Given the description of an element on the screen output the (x, y) to click on. 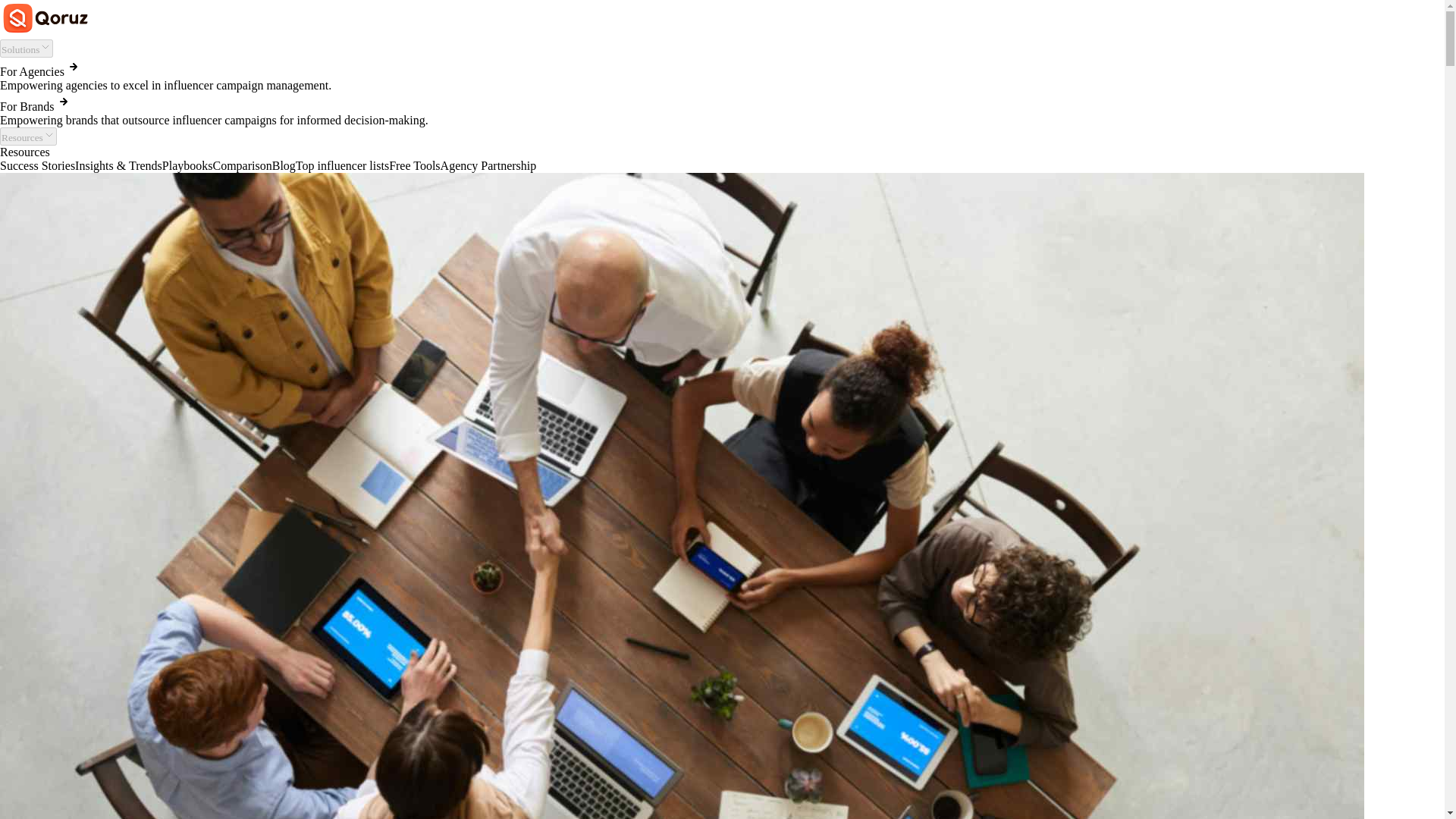
Playbooks (186, 164)
Resources (28, 136)
Comparison (241, 164)
Success Stories (37, 164)
Free Tools (413, 164)
Blog (283, 164)
Top influencer lists (341, 164)
Agency Partnership (489, 164)
Solutions (26, 48)
